Given the description of an element on the screen output the (x, y) to click on. 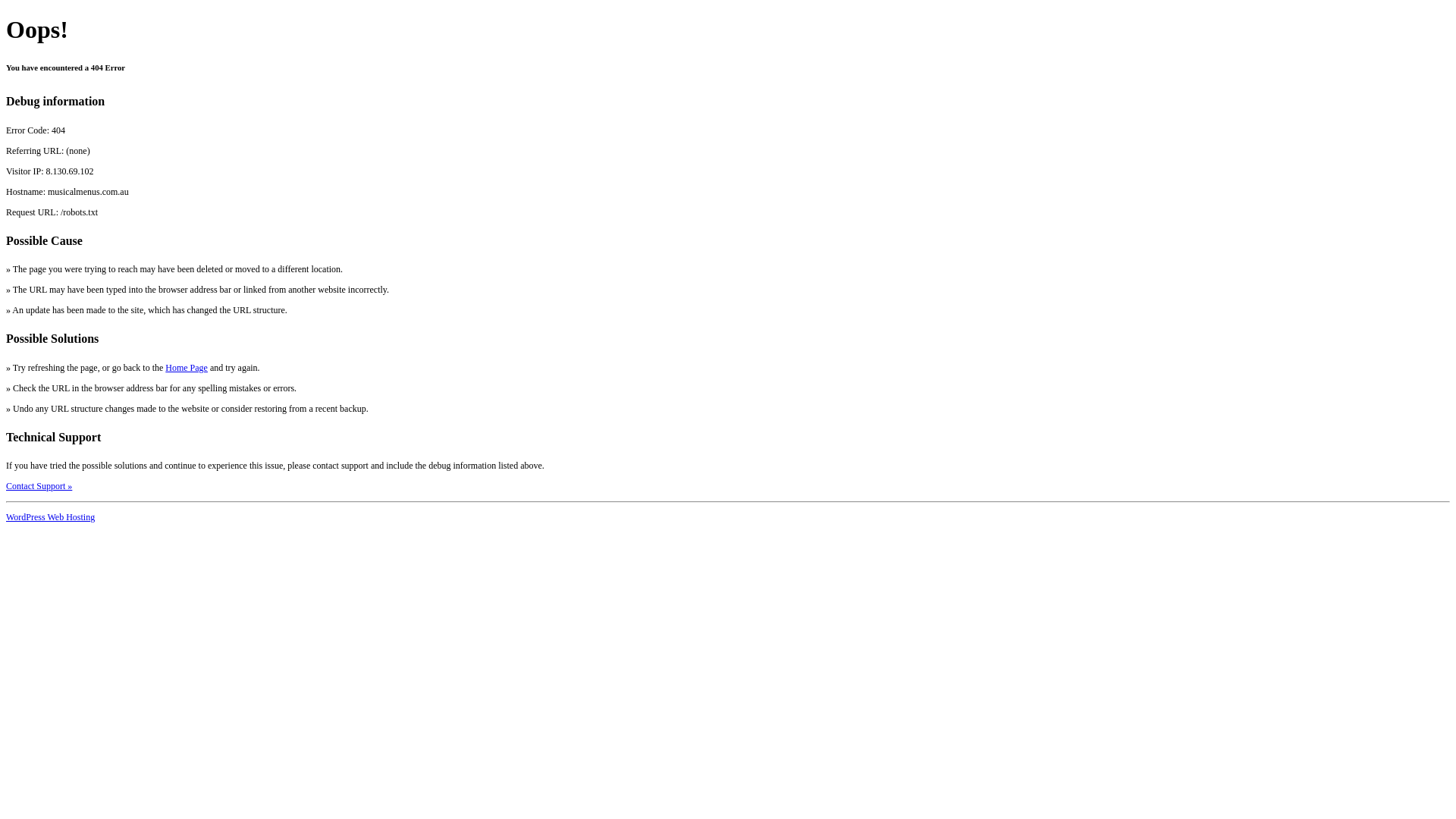
WordPress Web Hosting Element type: text (50, 516)
Home Page Element type: text (186, 367)
